Given the description of an element on the screen output the (x, y) to click on. 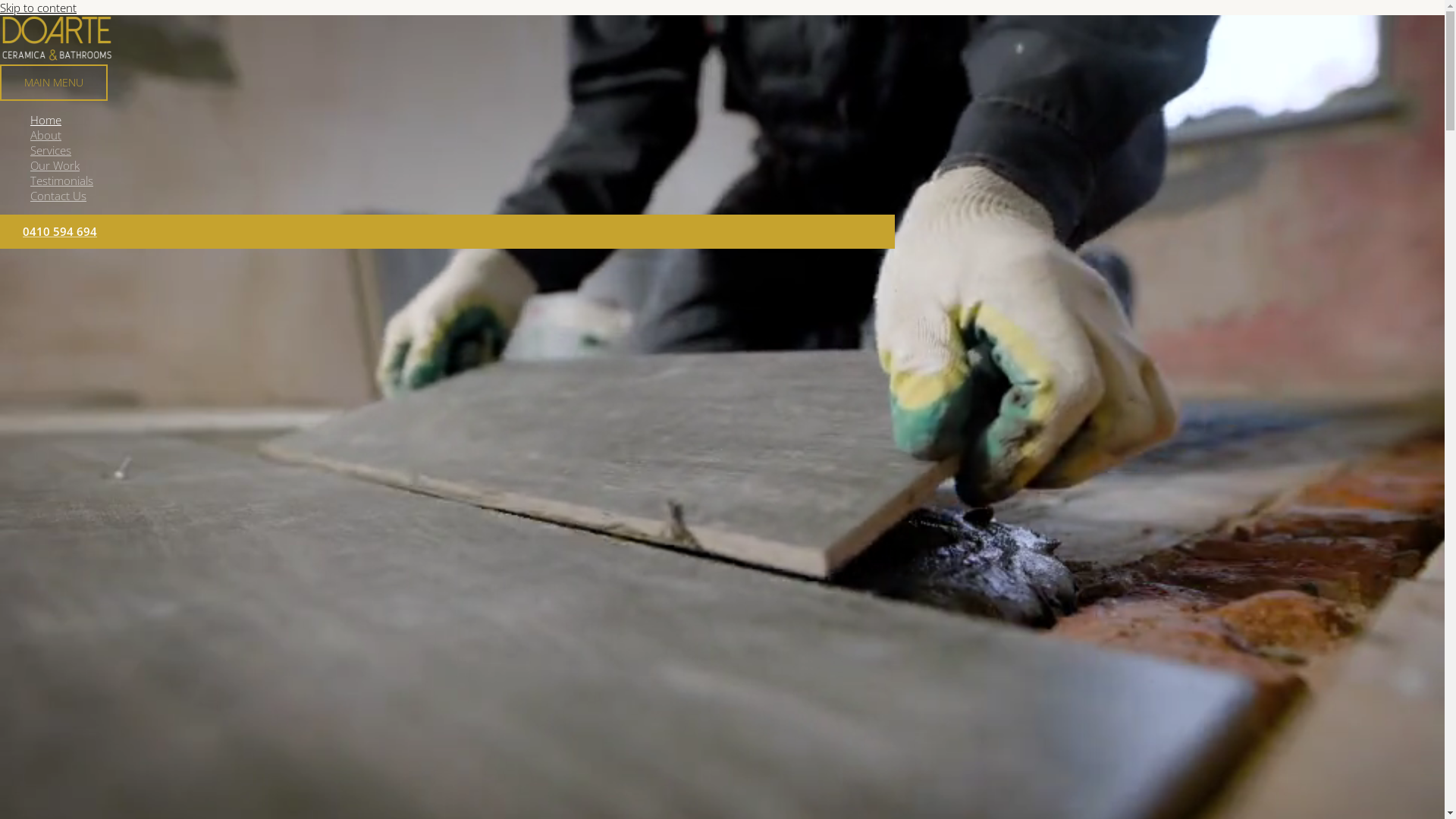
MAIN MENU Element type: text (53, 82)
Services Element type: text (462, 149)
Skip to content Element type: text (38, 7)
Home Element type: text (462, 119)
0410 594 694 Element type: text (447, 231)
Testimonials Element type: text (462, 180)
About Element type: text (462, 134)
Contact Us Element type: text (462, 195)
Our Work Element type: text (462, 164)
